Given the description of an element on the screen output the (x, y) to click on. 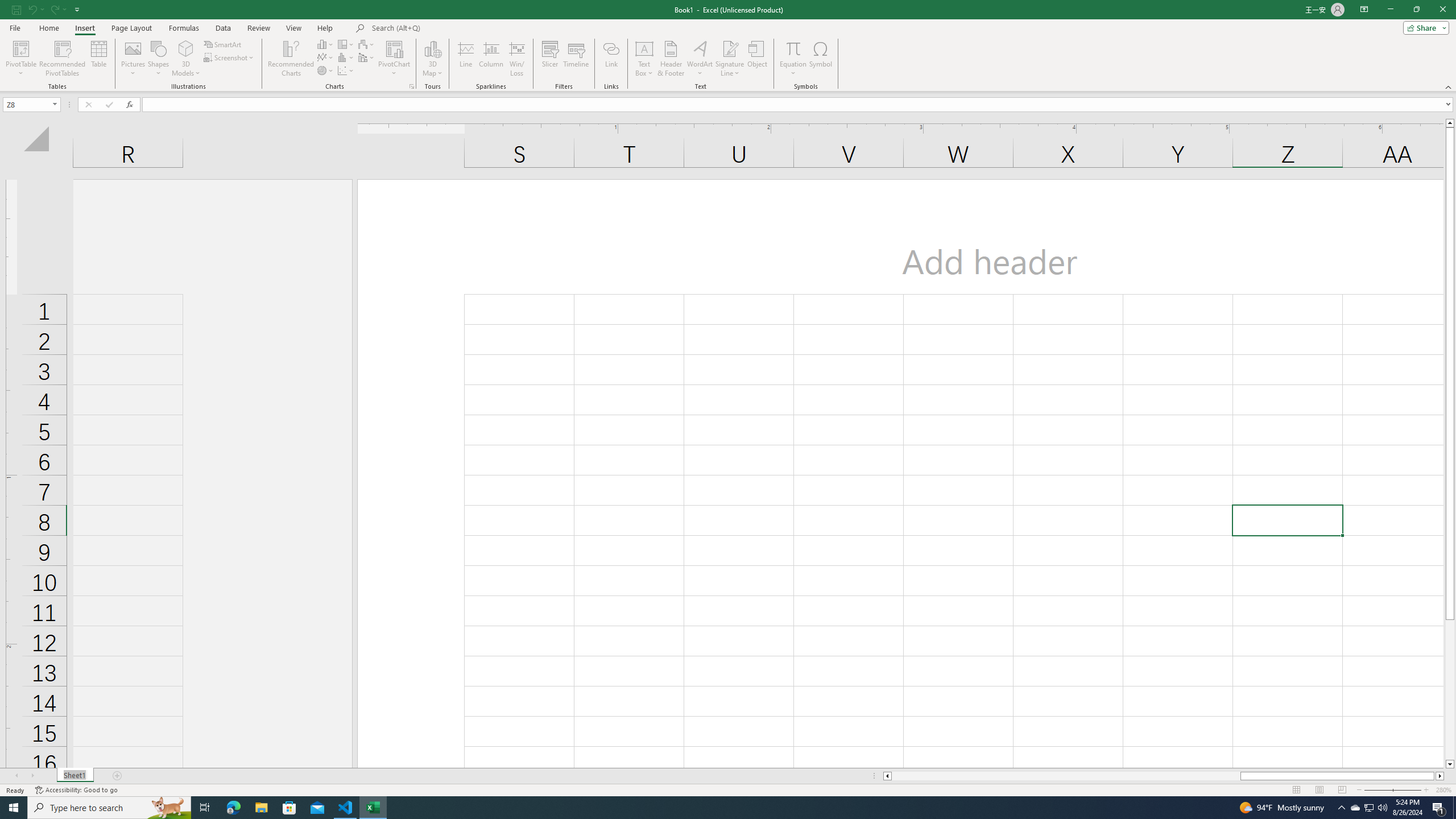
Object... (757, 58)
Insert Pie or Doughnut Chart (325, 69)
PivotChart (394, 58)
Insert Column or Bar Chart (325, 44)
Equation (793, 48)
3D Map (432, 48)
Table (98, 58)
